Given the description of an element on the screen output the (x, y) to click on. 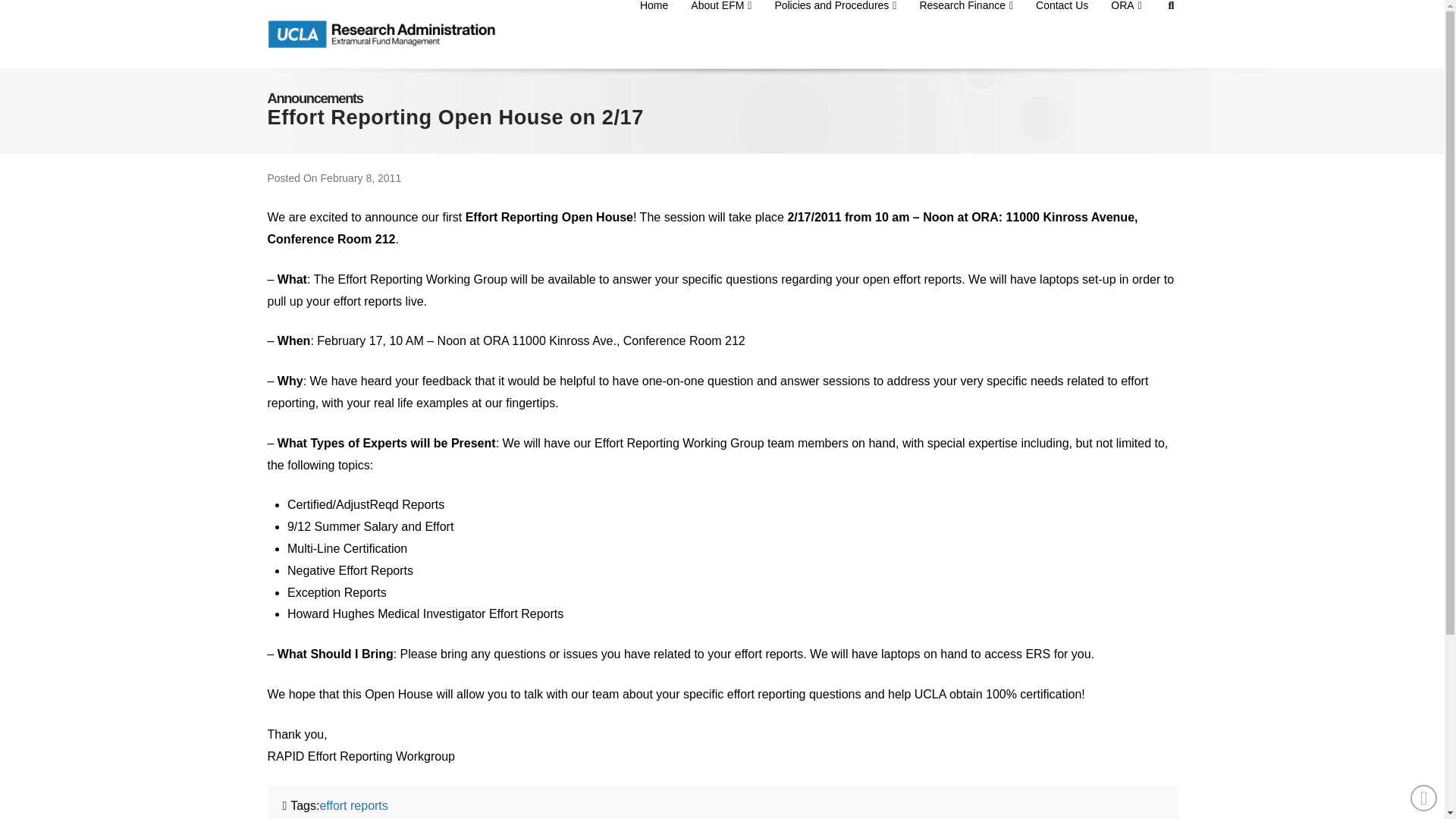
Research Finance (966, 33)
Contact Us (1062, 33)
Policies and Procedures (834, 33)
About EFM (720, 33)
Back to Top (1423, 797)
